Given the description of an element on the screen output the (x, y) to click on. 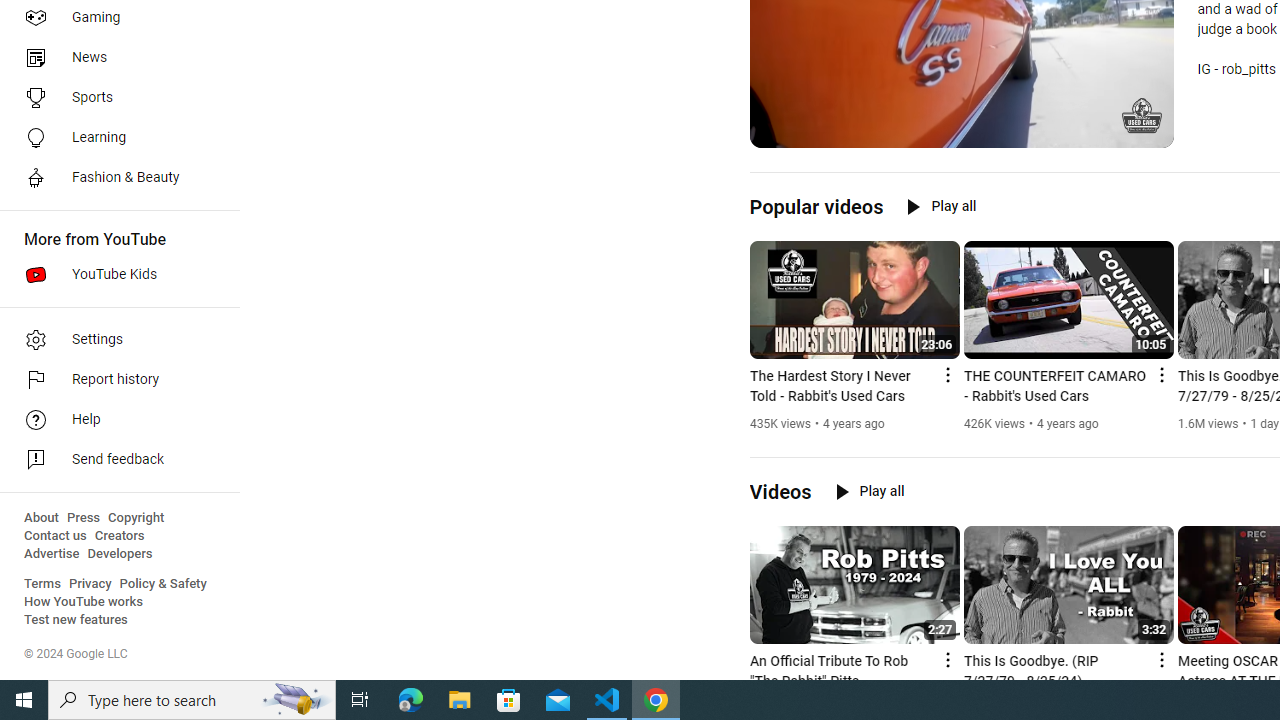
Channel watermark (1141, 115)
Copyright (136, 518)
Test new features (76, 620)
Seek slider (961, 109)
Policy & Safety (163, 584)
YouTube Kids (113, 274)
Send feedback (113, 459)
Report history (113, 380)
Action menu (1160, 659)
